Given the description of an element on the screen output the (x, y) to click on. 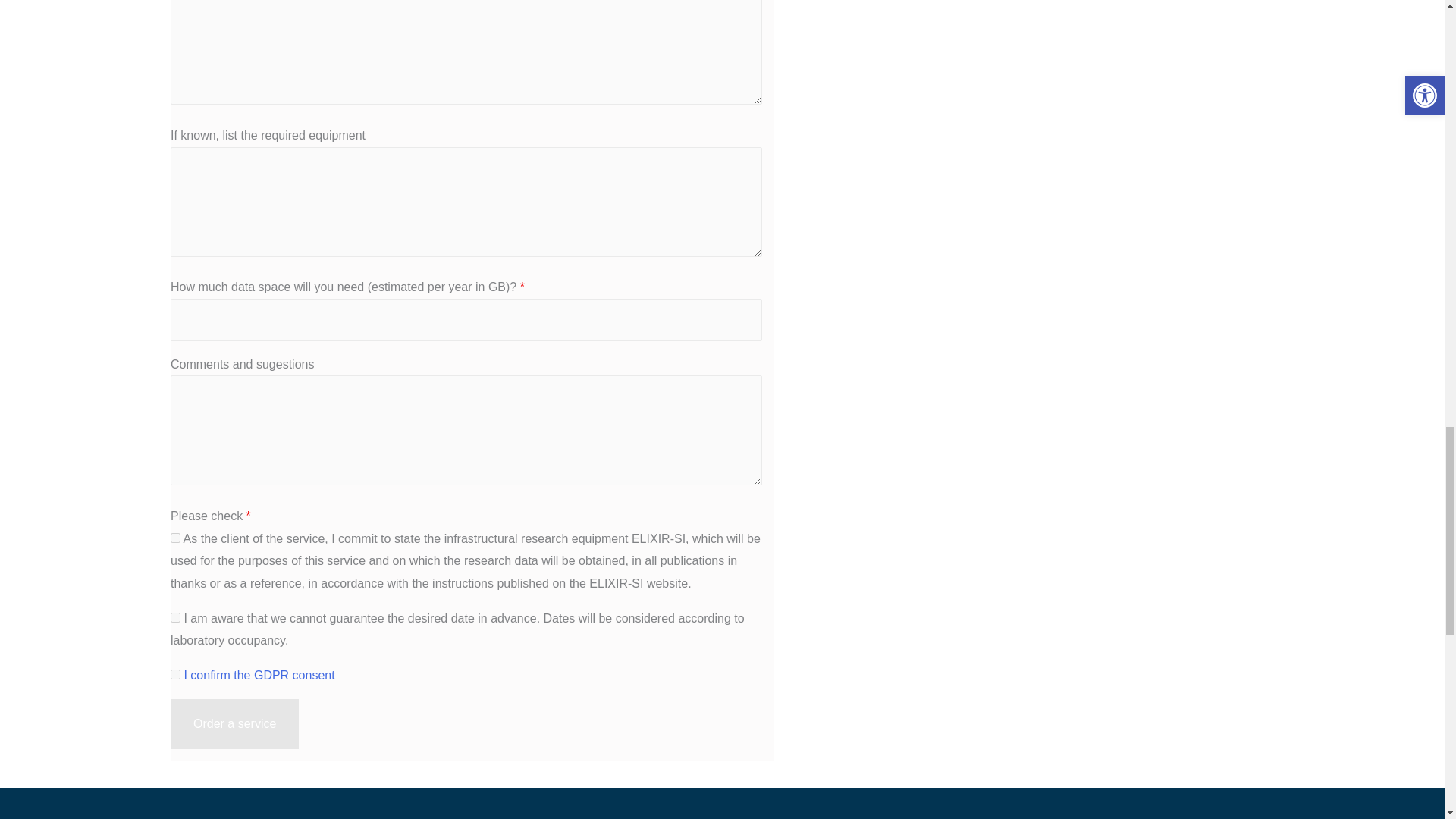
I confirm the GDPR consent (258, 675)
Order a service (234, 724)
